Given the description of an element on the screen output the (x, y) to click on. 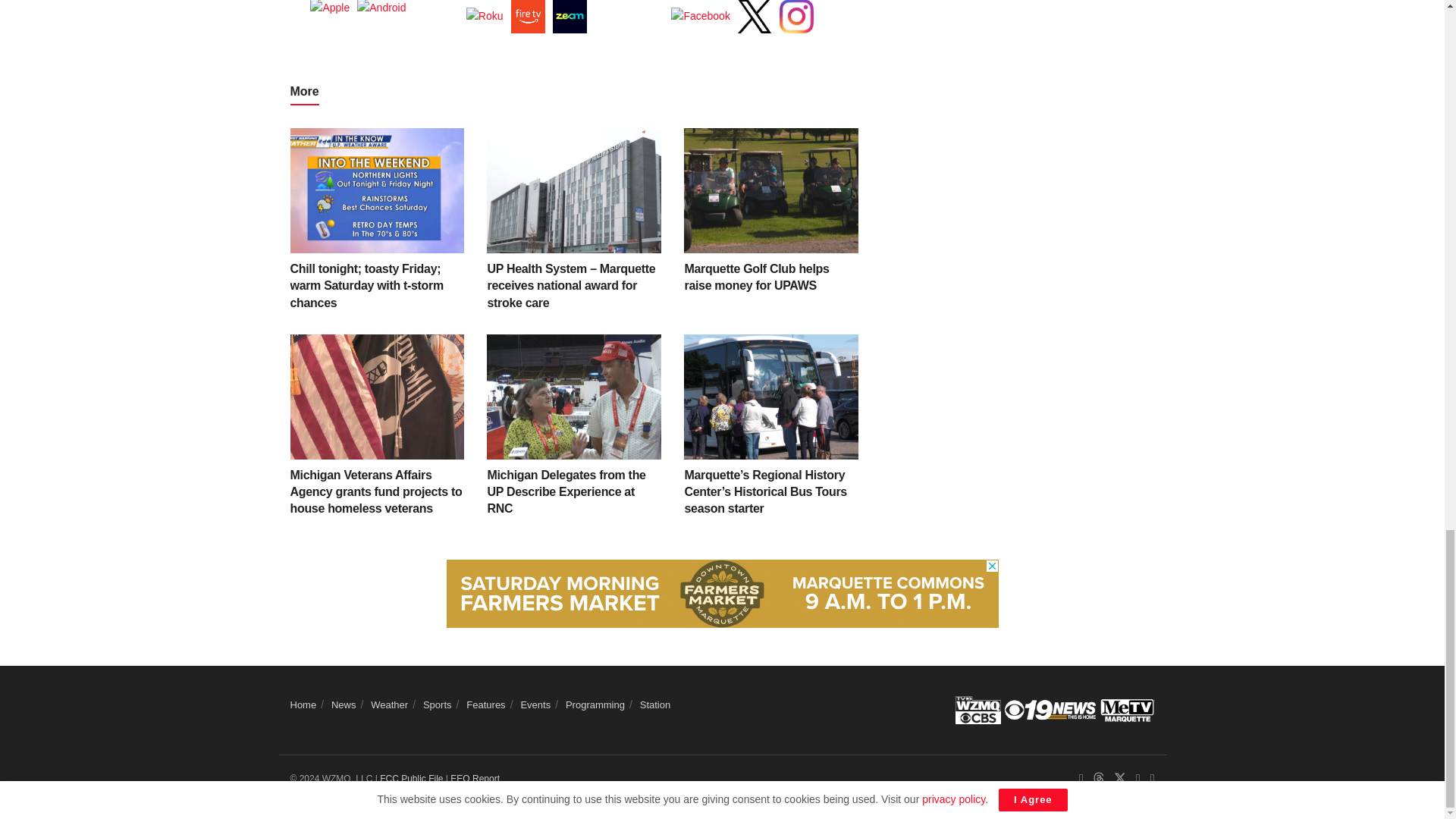
3rd party ad content (721, 593)
